Given the description of an element on the screen output the (x, y) to click on. 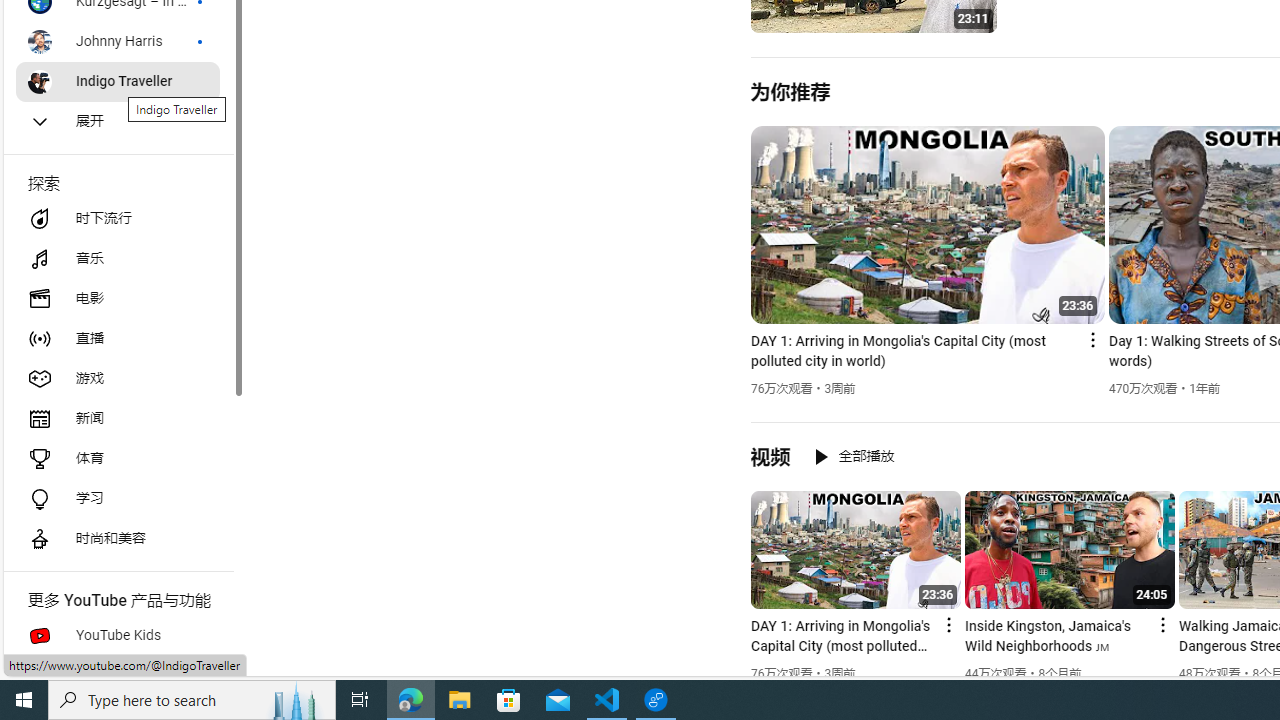
YouTube Kids (117, 635)
Indigo Traveller (117, 81)
